Given the description of an element on the screen output the (x, y) to click on. 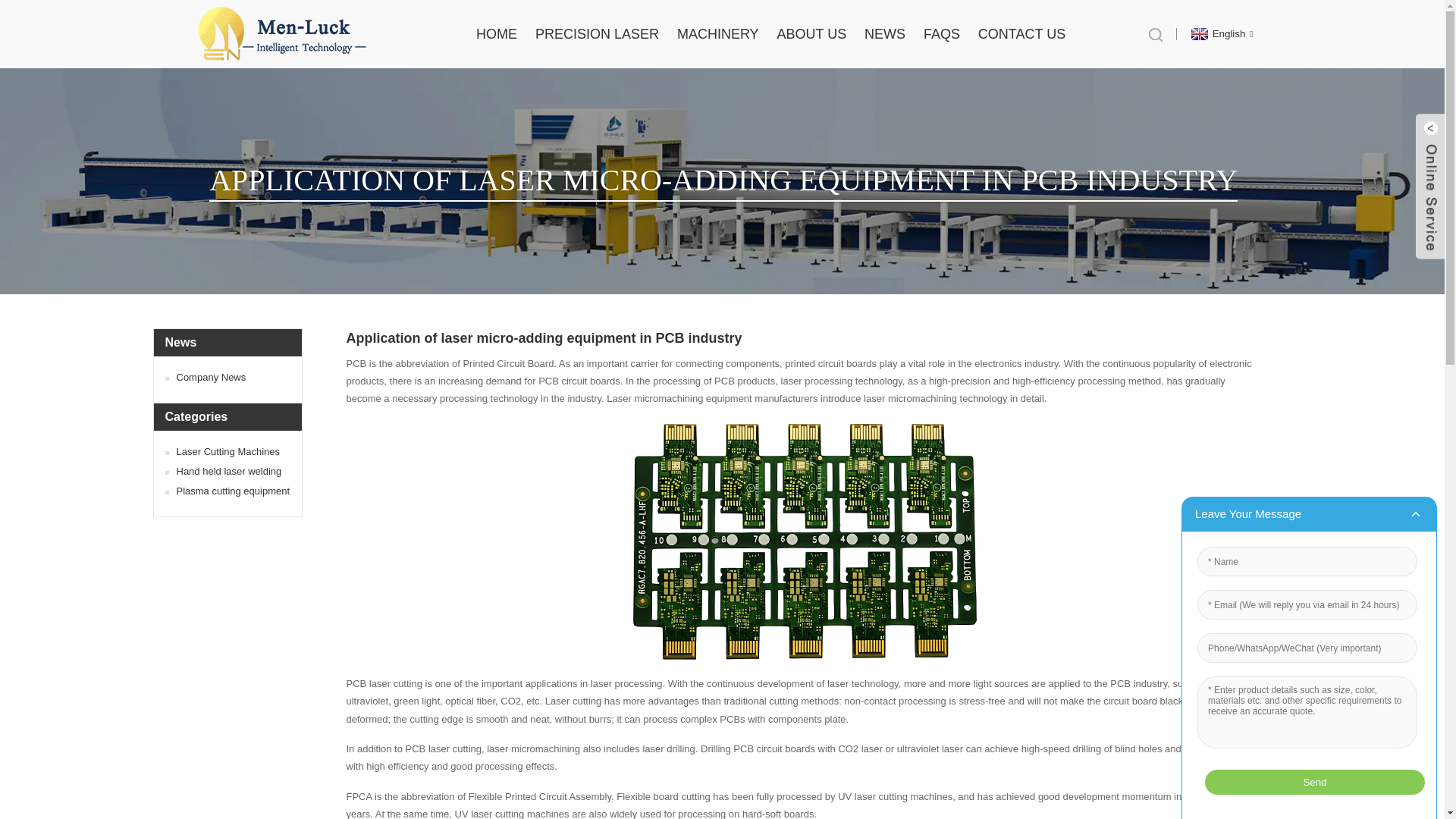
HOME (496, 33)
CONTACT US (1021, 33)
PRECISION LASER (597, 33)
ABOUT US (810, 33)
FAQS (941, 33)
NEWS (884, 33)
MACHINERY (717, 33)
English (1220, 33)
